Given the description of an element on the screen output the (x, y) to click on. 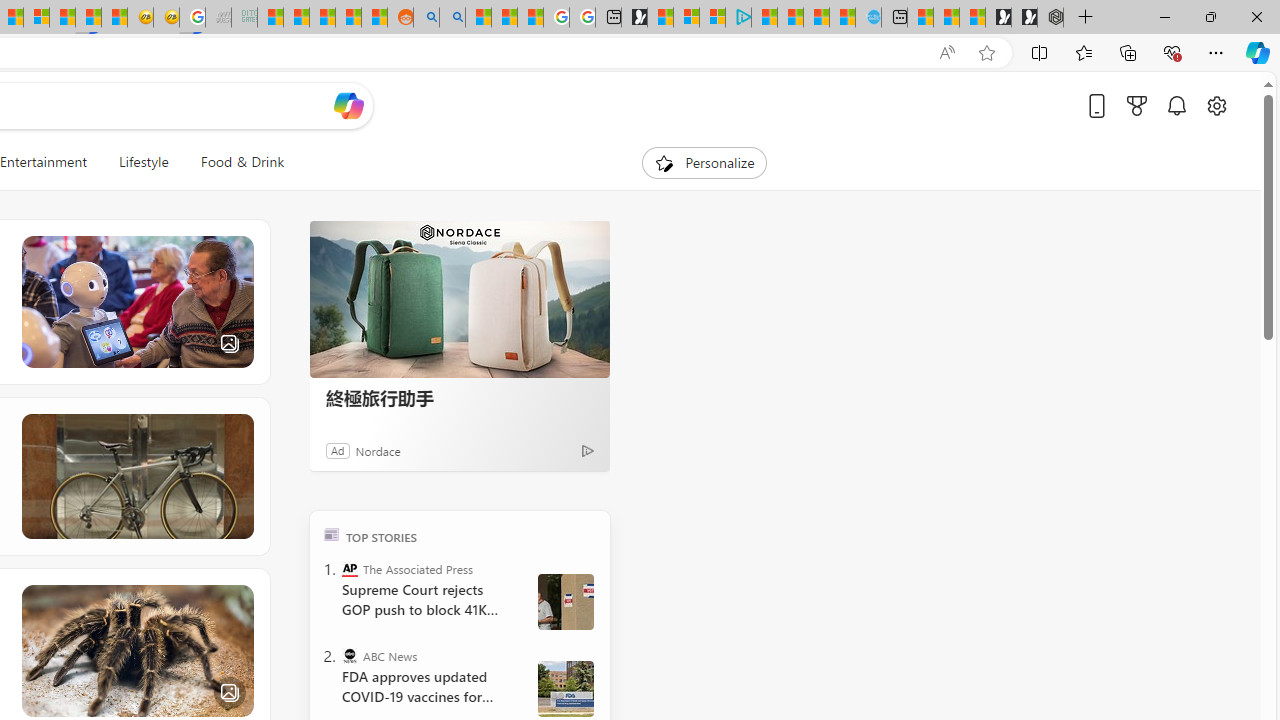
Student Loan Update: Forgiveness Program Ends This Month (347, 17)
